Given the description of an element on the screen output the (x, y) to click on. 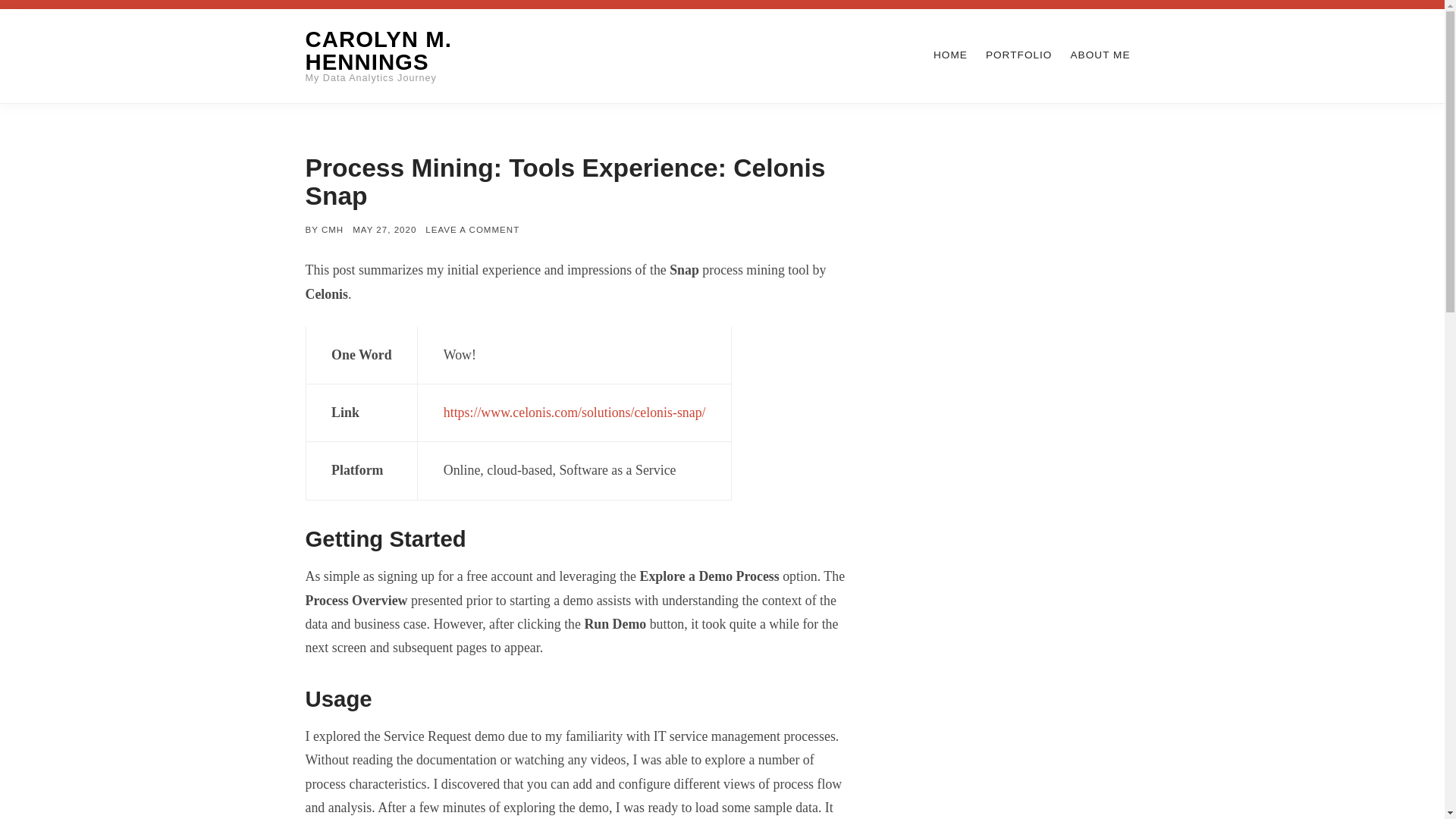
CMH (332, 229)
MAY 27, 2020 (384, 229)
PORTFOLIO (1018, 55)
HOME (950, 55)
ABOUT ME (1099, 55)
CAROLYN M. HENNINGS (377, 49)
